Given the description of an element on the screen output the (x, y) to click on. 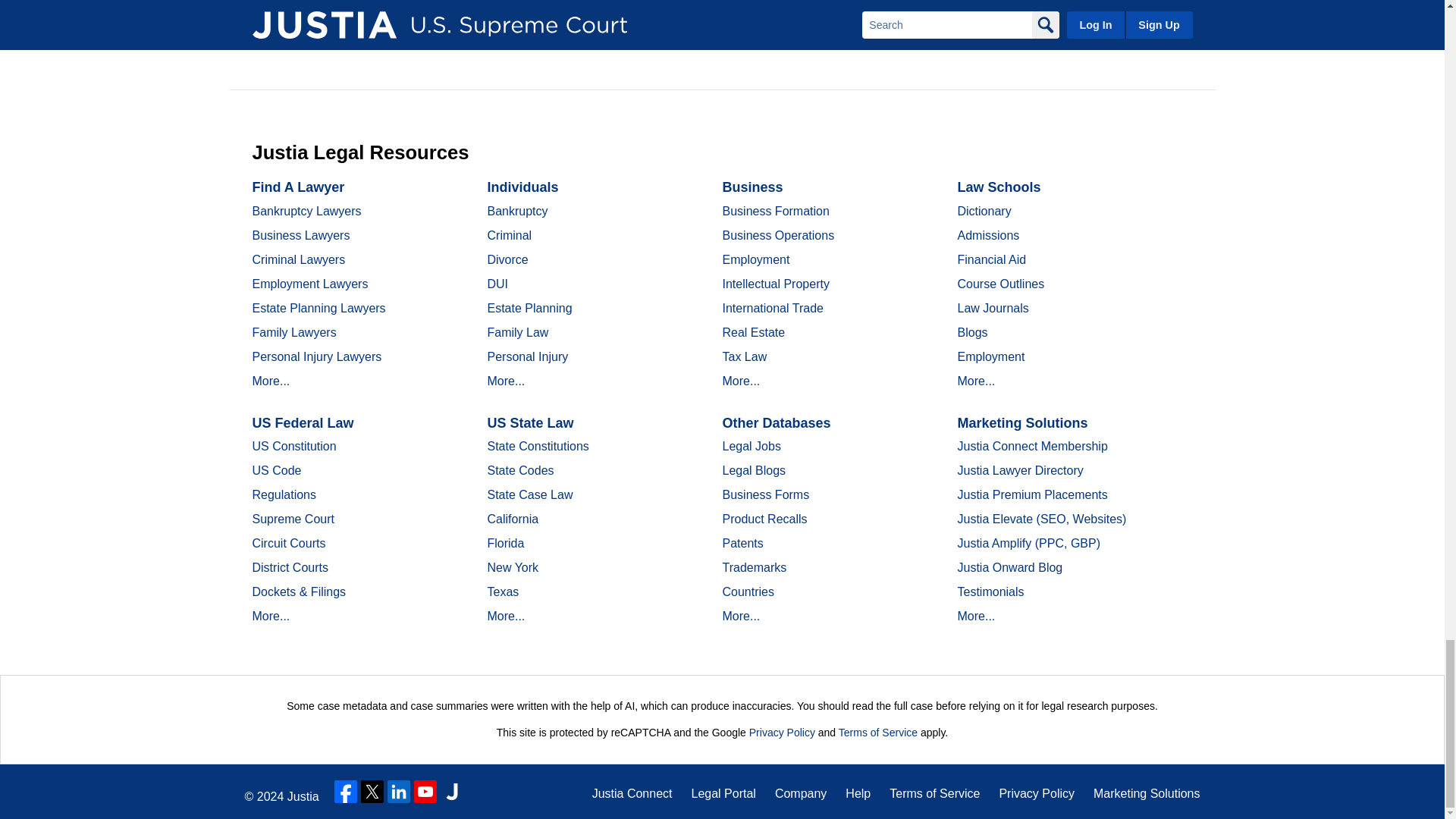
YouTube (424, 791)
Justia Lawyer Directory (452, 791)
Facebook (345, 791)
LinkedIn (398, 791)
Twitter (372, 791)
